Given the description of an element on the screen output the (x, y) to click on. 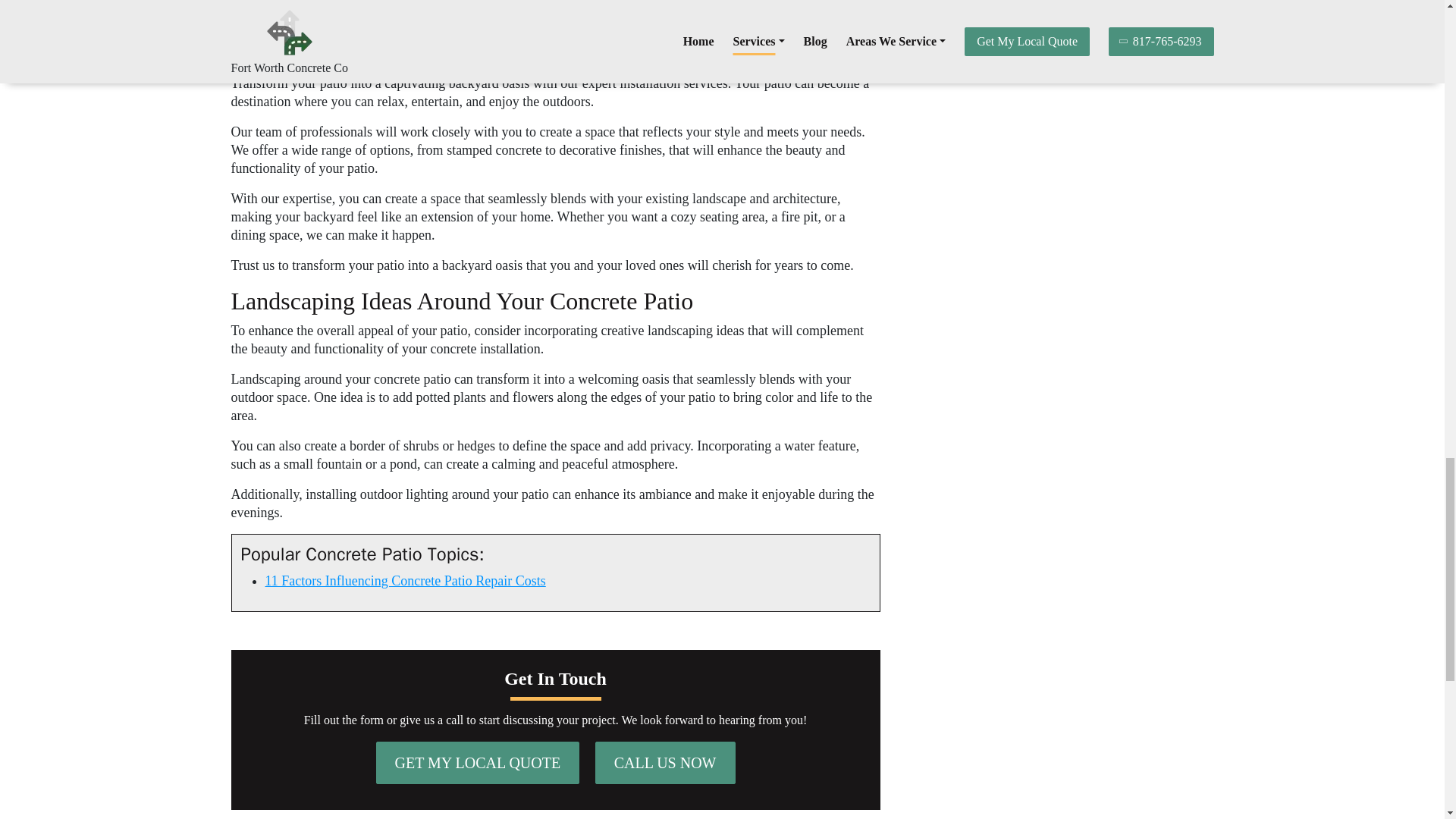
11 Factors Influencing Concrete Patio Repair Costs (405, 580)
CALL US NOW (665, 762)
GET MY LOCAL QUOTE (477, 762)
